Given the description of an element on the screen output the (x, y) to click on. 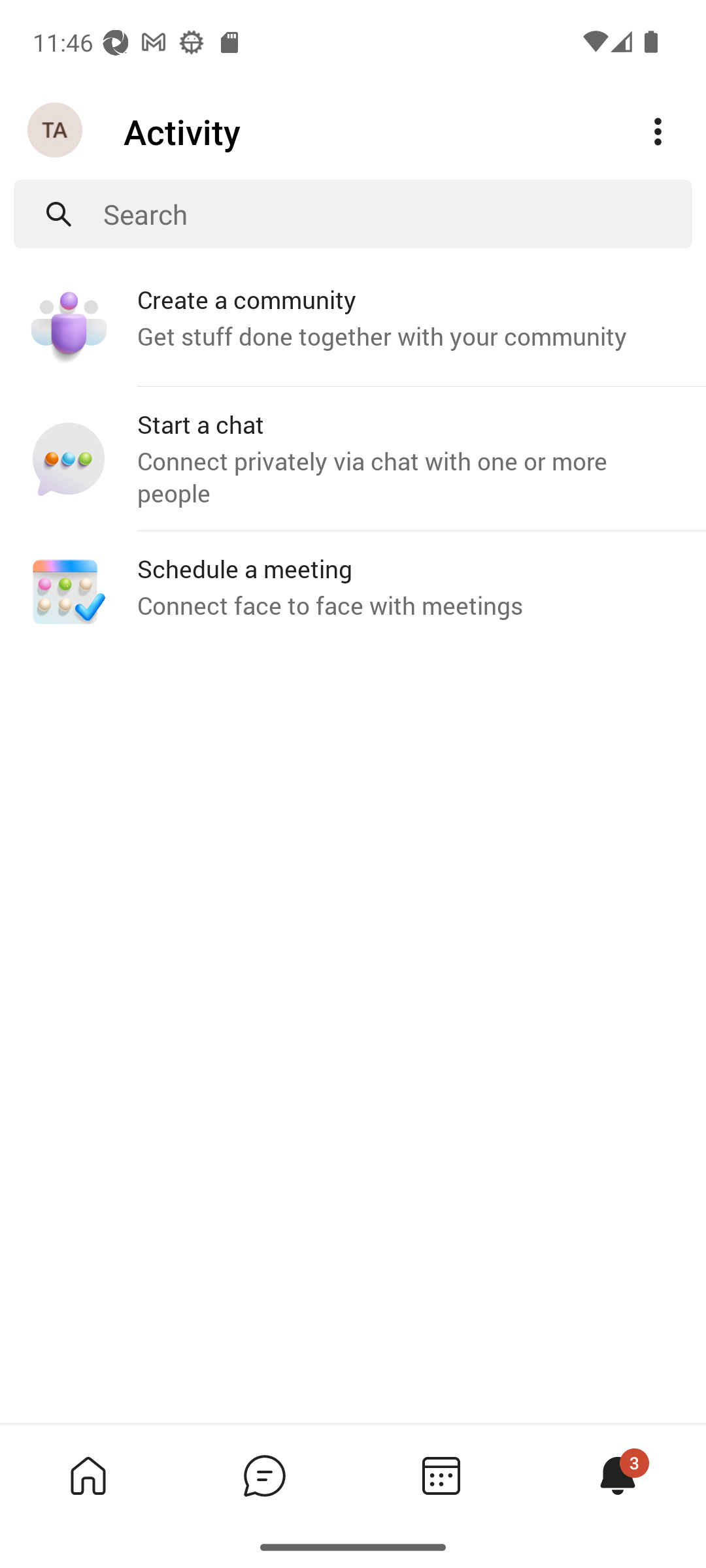
More options (657, 131)
Navigation (56, 130)
Search (397, 213)
Home tab,1 of 4, not selected (88, 1475)
Chat tab,2 of 4, not selected (264, 1475)
Calendar tab,3 of 4, not selected (441, 1475)
Activity tab, 4 of 4, 3 new 3 (617, 1475)
